Given the description of an element on the screen output the (x, y) to click on. 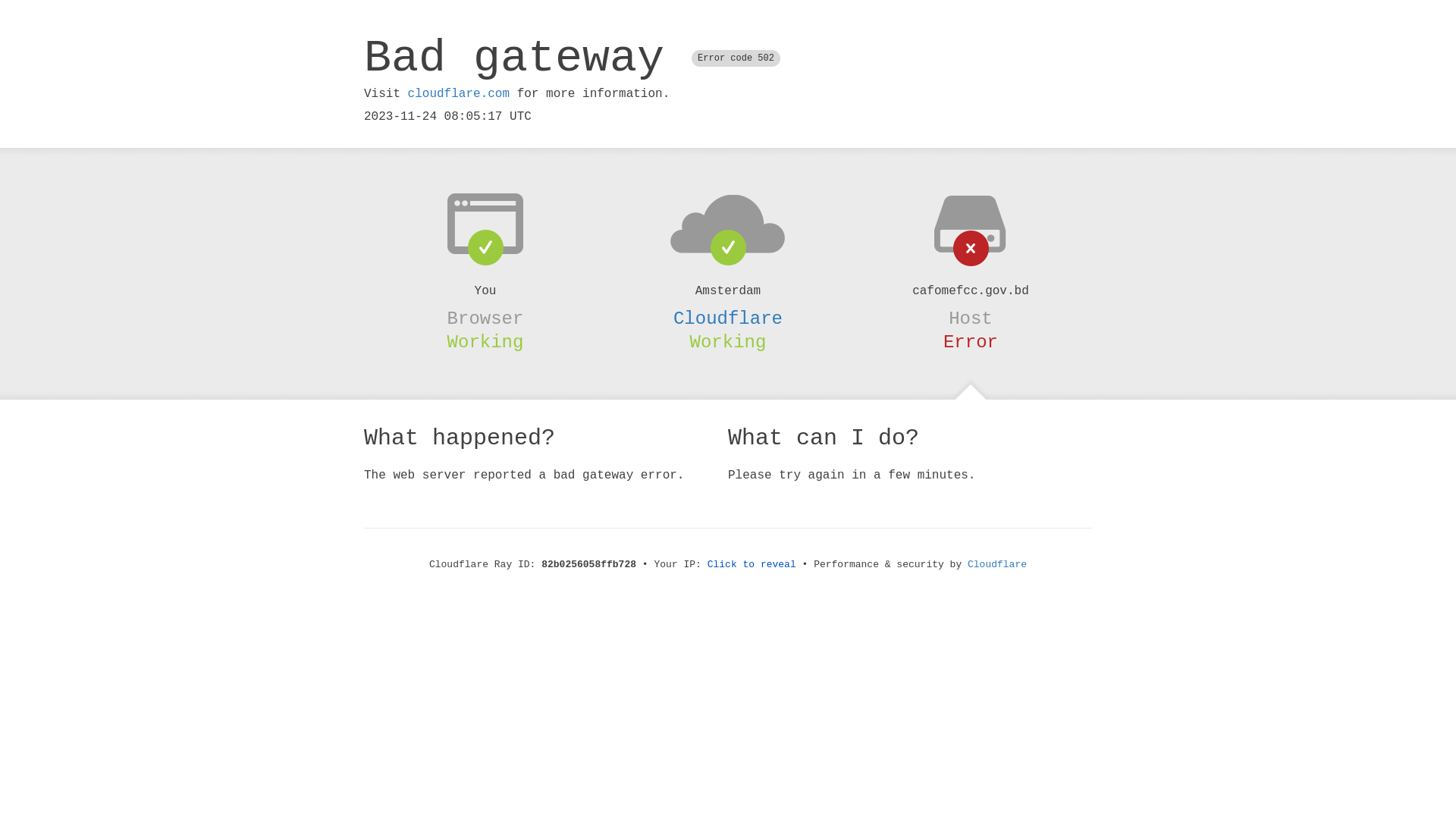
Cloudflare Element type: text (727, 318)
Click to reveal Element type: text (751, 564)
Cloudflare Element type: text (996, 564)
cloudflare.com Element type: text (458, 93)
